Given the description of an element on the screen output the (x, y) to click on. 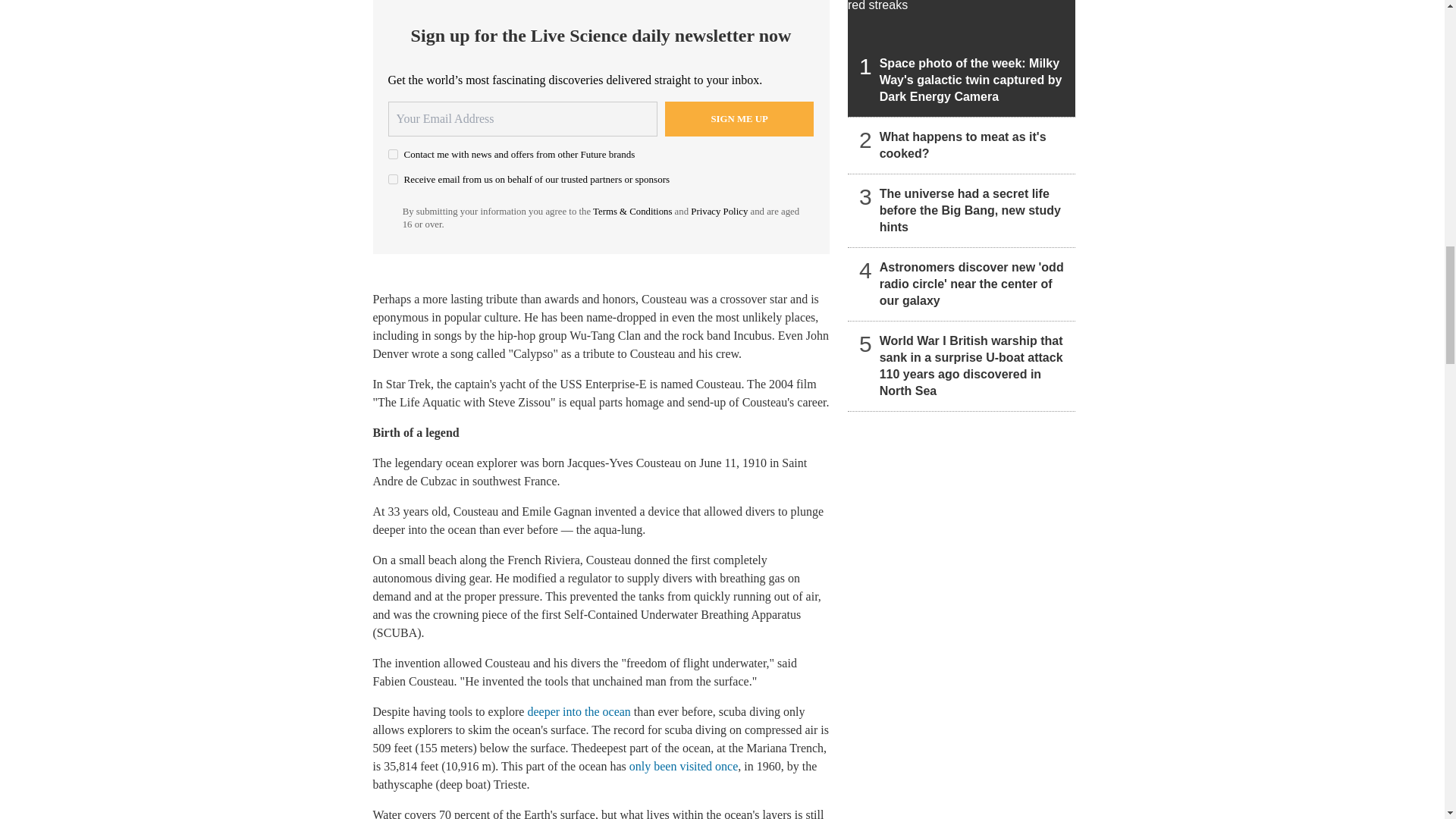
on (392, 179)
on (392, 153)
Sign me up (739, 118)
